Given the description of an element on the screen output the (x, y) to click on. 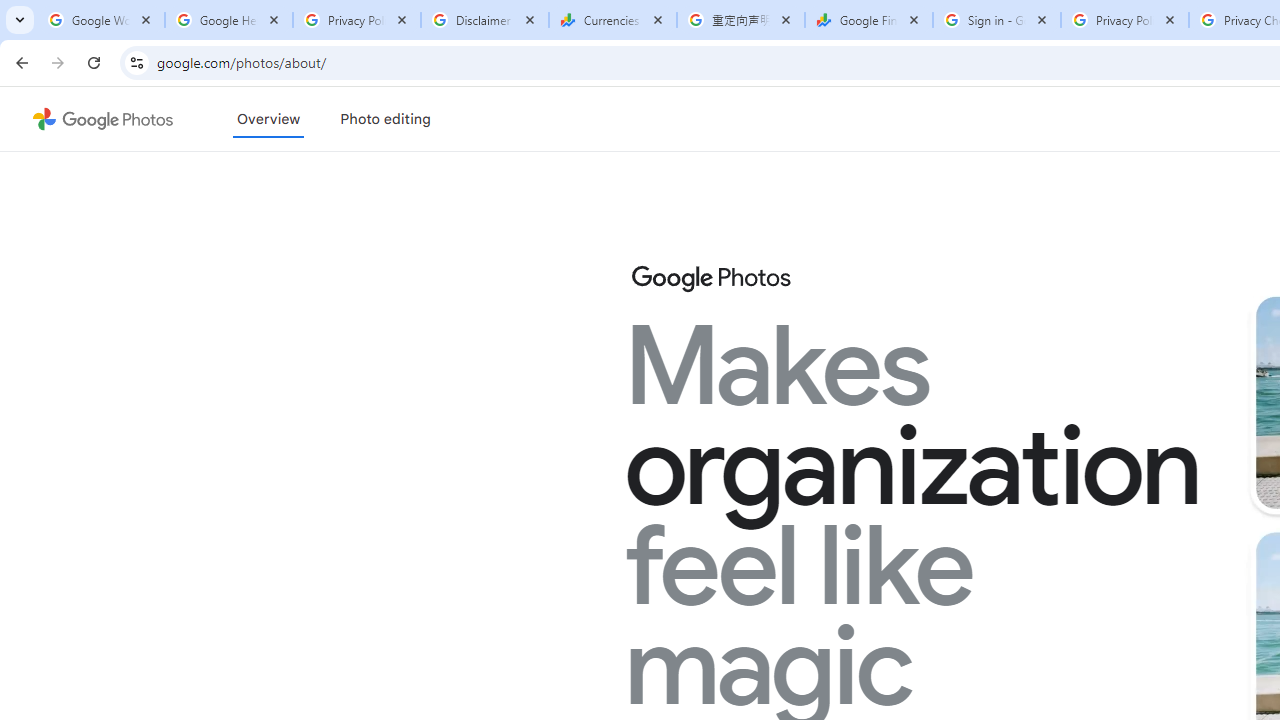
Google Workspace Admin Community (101, 20)
Currencies - Google Finance (613, 20)
